Given the description of an element on the screen output the (x, y) to click on. 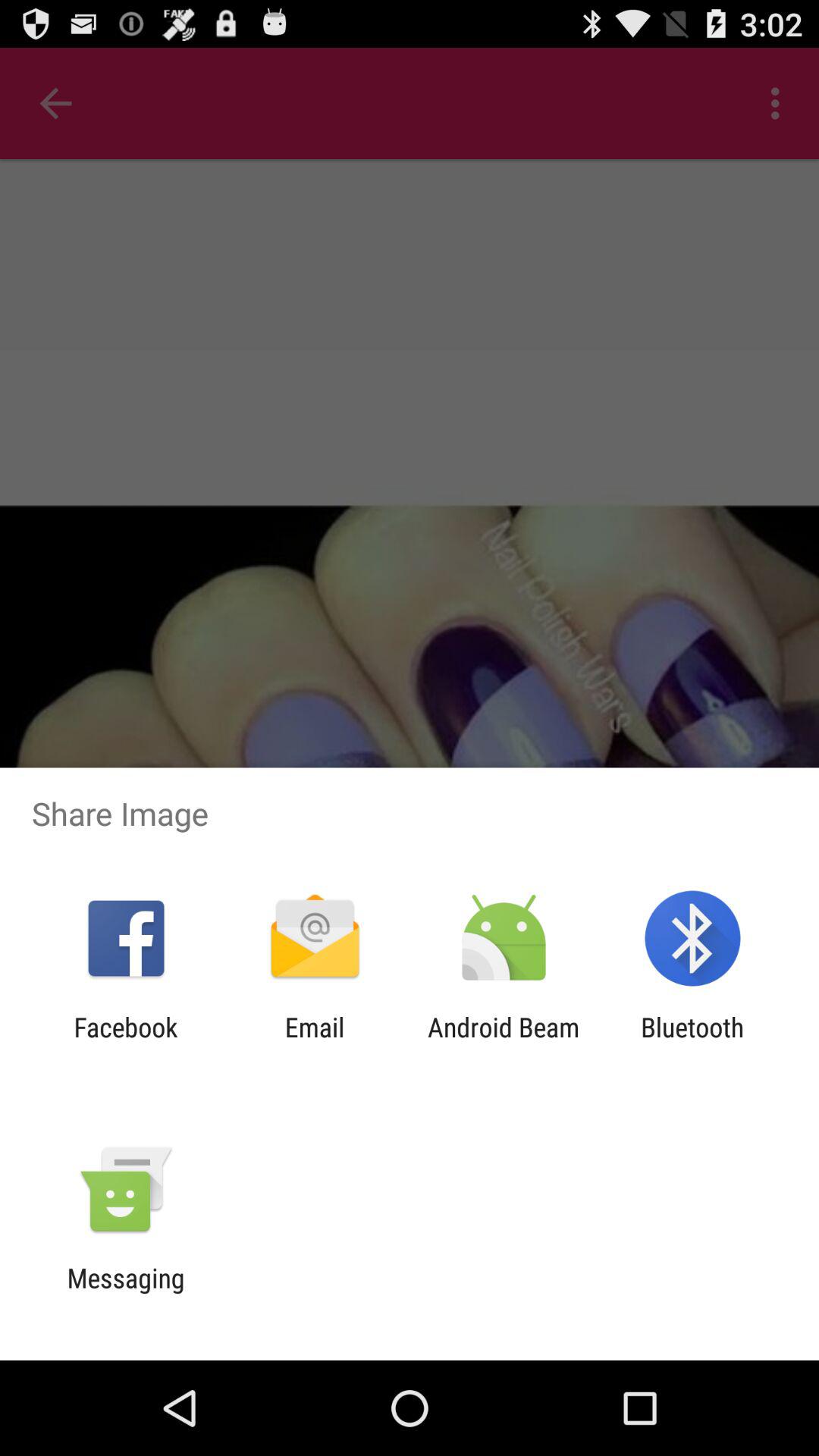
click icon to the right of email (503, 1042)
